Given the description of an element on the screen output the (x, y) to click on. 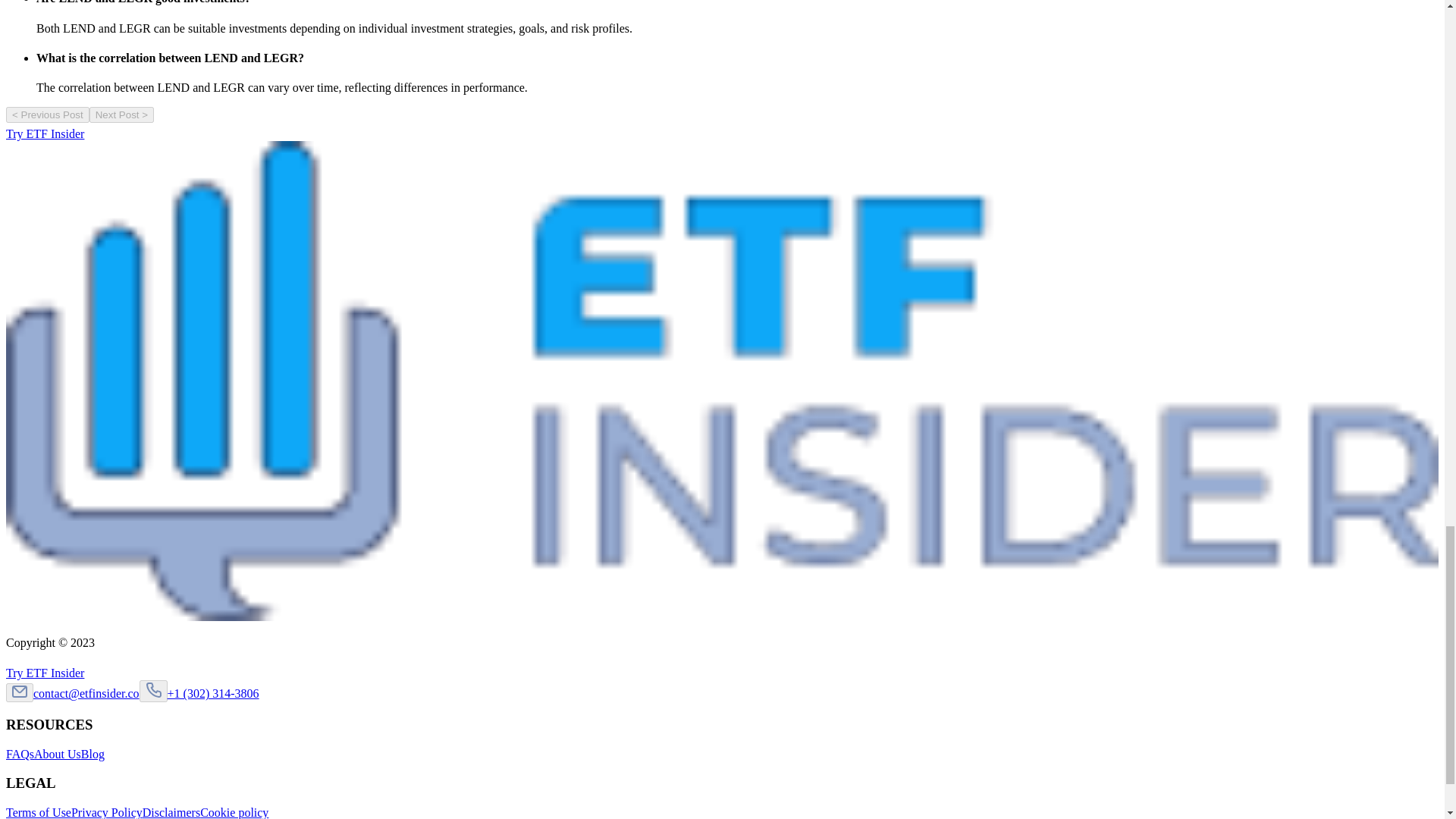
Privacy Policy (106, 812)
Terms of Use (38, 812)
About Us (57, 753)
Cookie policy (233, 812)
FAQs (19, 753)
Try ETF Insider (52, 672)
Try ETF Insider (52, 133)
Blog (92, 753)
Disclaimers (171, 812)
